Given the description of an element on the screen output the (x, y) to click on. 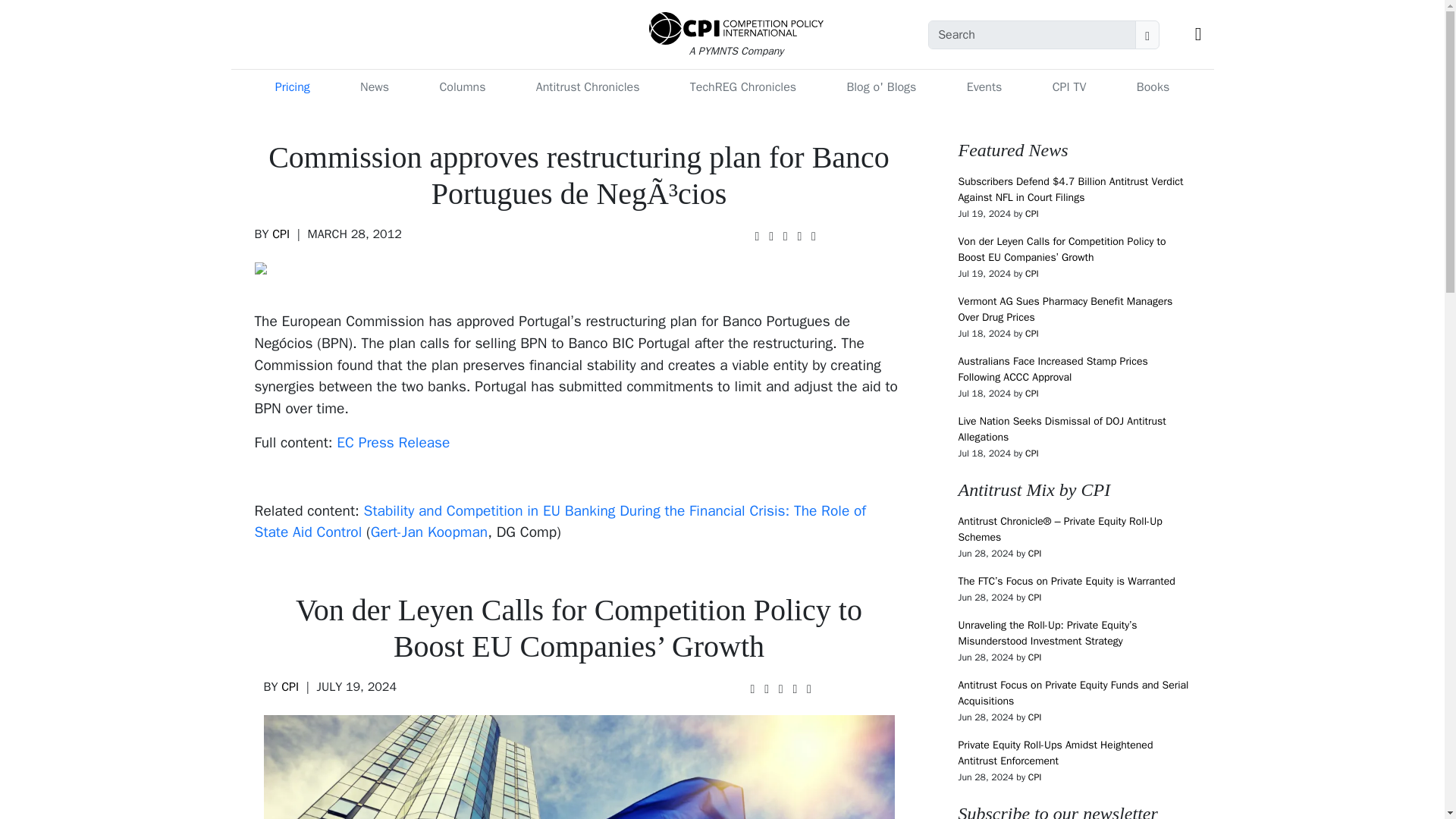
Books (1152, 87)
News (373, 87)
CPI (280, 233)
Events (984, 87)
TechREG Chronicles (743, 87)
Columns (462, 87)
CPI (289, 686)
Pricing (292, 87)
Posts by CPI (280, 233)
Blog o' Blogs (880, 87)
Gert-Jan Koopman (429, 532)
CPI TV (1069, 87)
Antitrust Chronicles (587, 87)
